Given the description of an element on the screen output the (x, y) to click on. 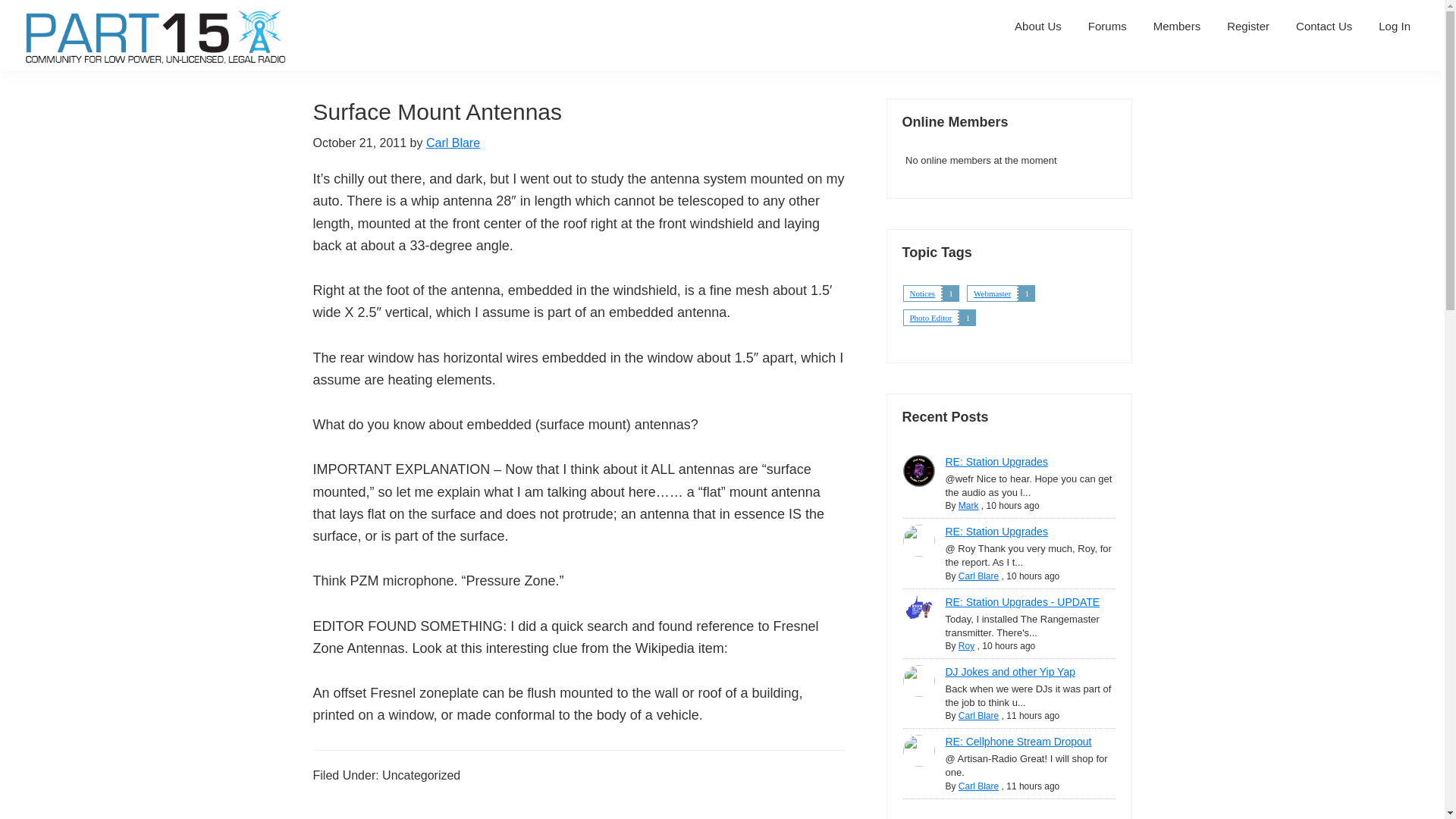
Webmaster (991, 293)
Roy (966, 645)
Carl Blare (978, 715)
Roy (966, 645)
DJ Jokes and other Yip Yap (1009, 671)
About Us (1038, 25)
Roy (918, 611)
Mark (968, 505)
Mark (918, 470)
